Given the description of an element on the screen output the (x, y) to click on. 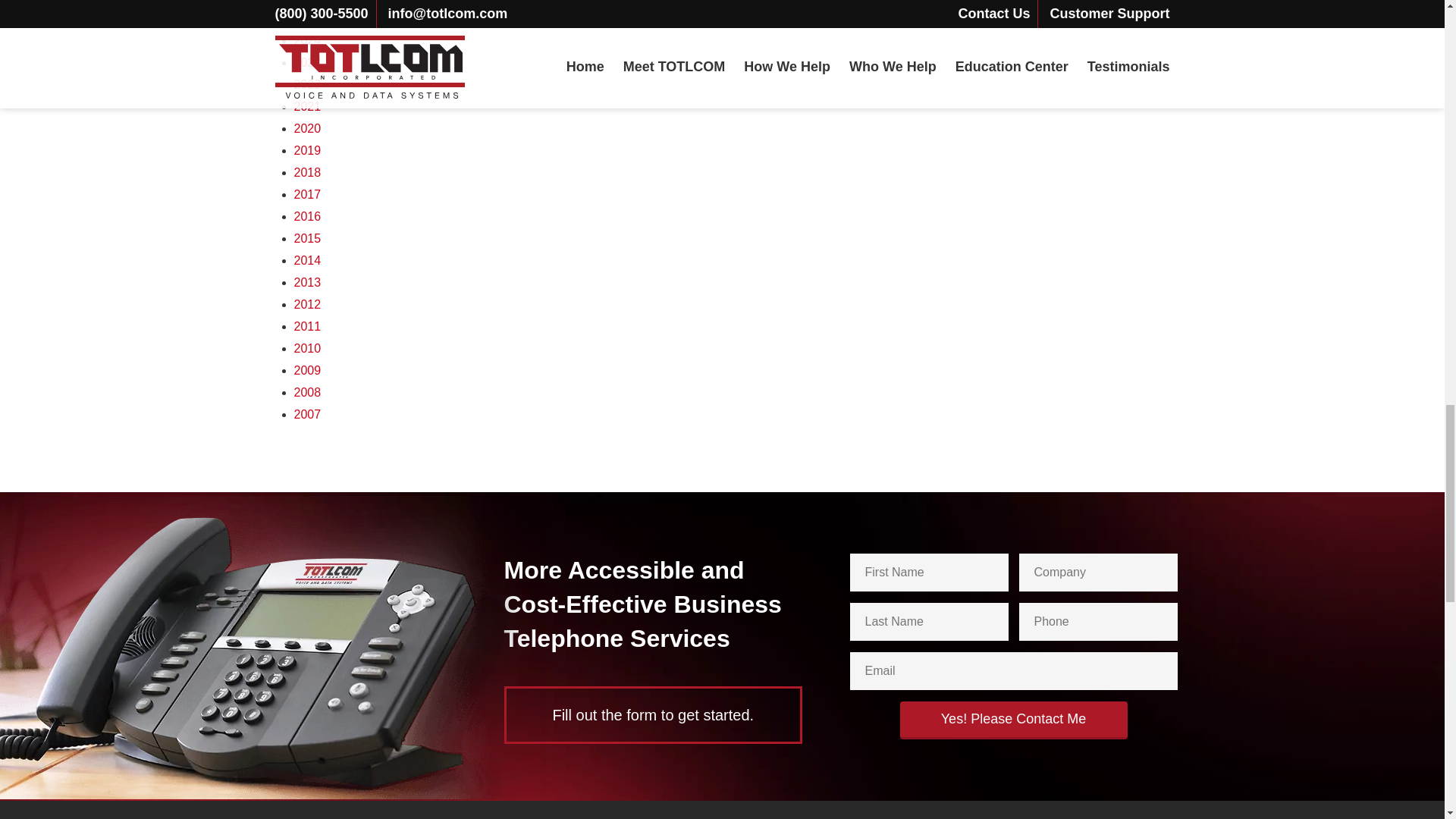
Yes! Please Contact Me (1012, 720)
